Given the description of an element on the screen output the (x, y) to click on. 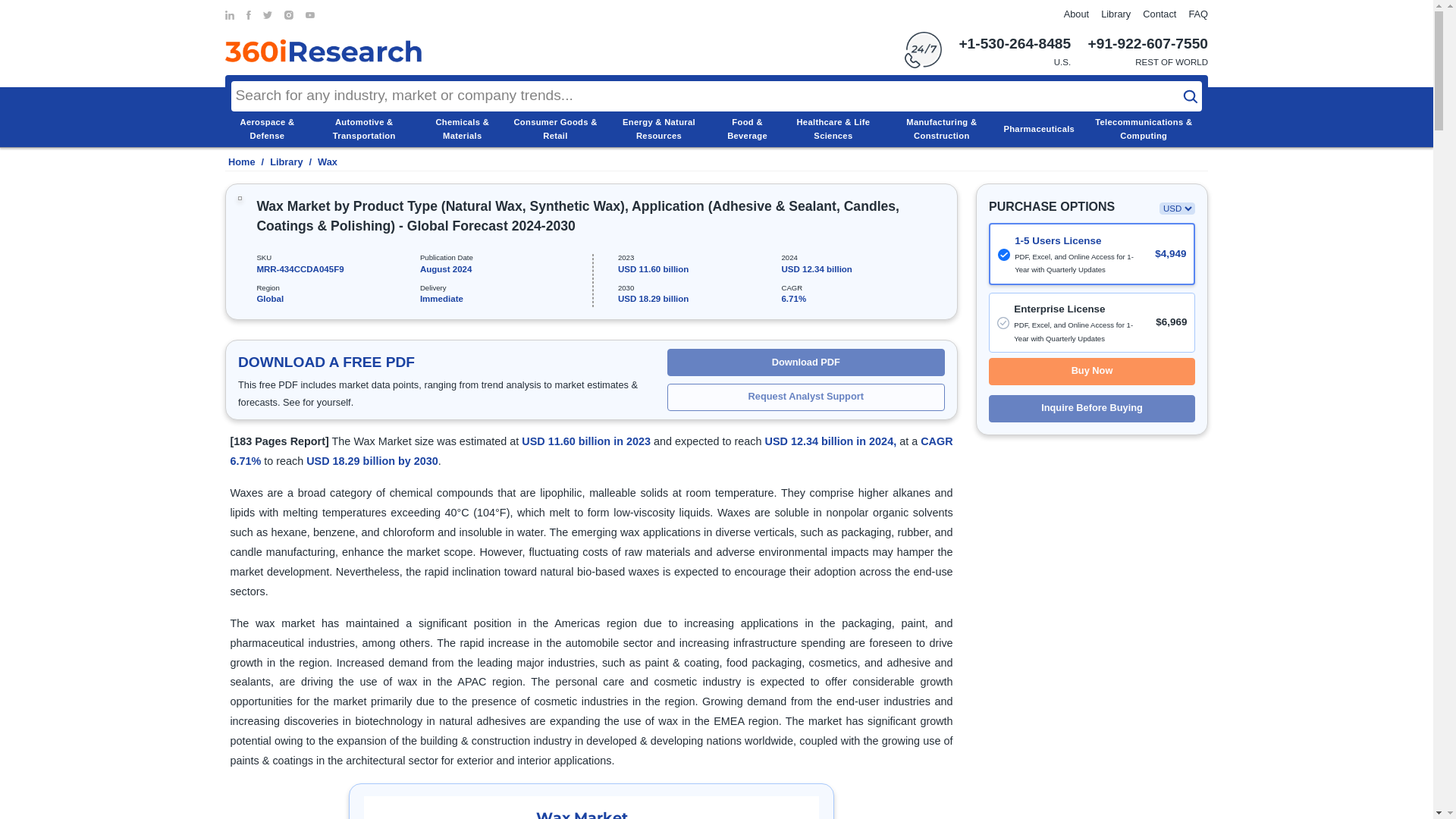
360iResearch Linkedin (229, 14)
Wax Market (591, 807)
Download PDF (805, 361)
FAQ (1198, 13)
360iResearch Instagram (288, 14)
Contact (1159, 13)
About (1076, 13)
Inquire Before Buying (1091, 408)
Pharmaceuticals (1038, 128)
360iResearch Twitter (267, 14)
